Given the description of an element on the screen output the (x, y) to click on. 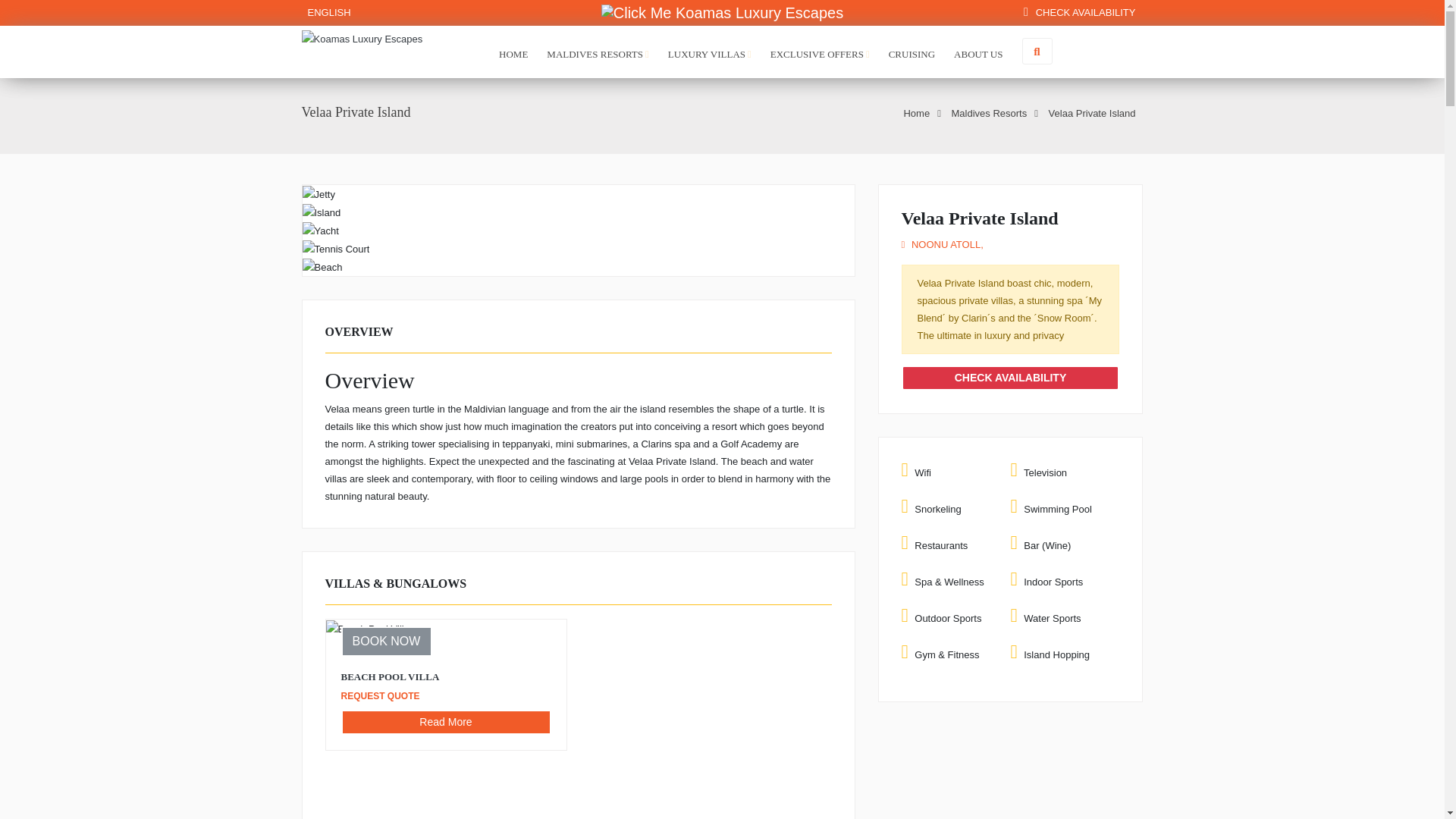
ABOUT US (978, 51)
REQUEST QUOTE (381, 695)
Read More (445, 722)
Maldives Resorts (995, 112)
Home (921, 112)
ENGLISH (325, 12)
MALDIVES RESORTS (597, 51)
EXCLUSIVE OFFERS (819, 51)
LUXURY VILLAS (709, 51)
CHECK AVAILABILITY (1079, 12)
